Given the description of an element on the screen output the (x, y) to click on. 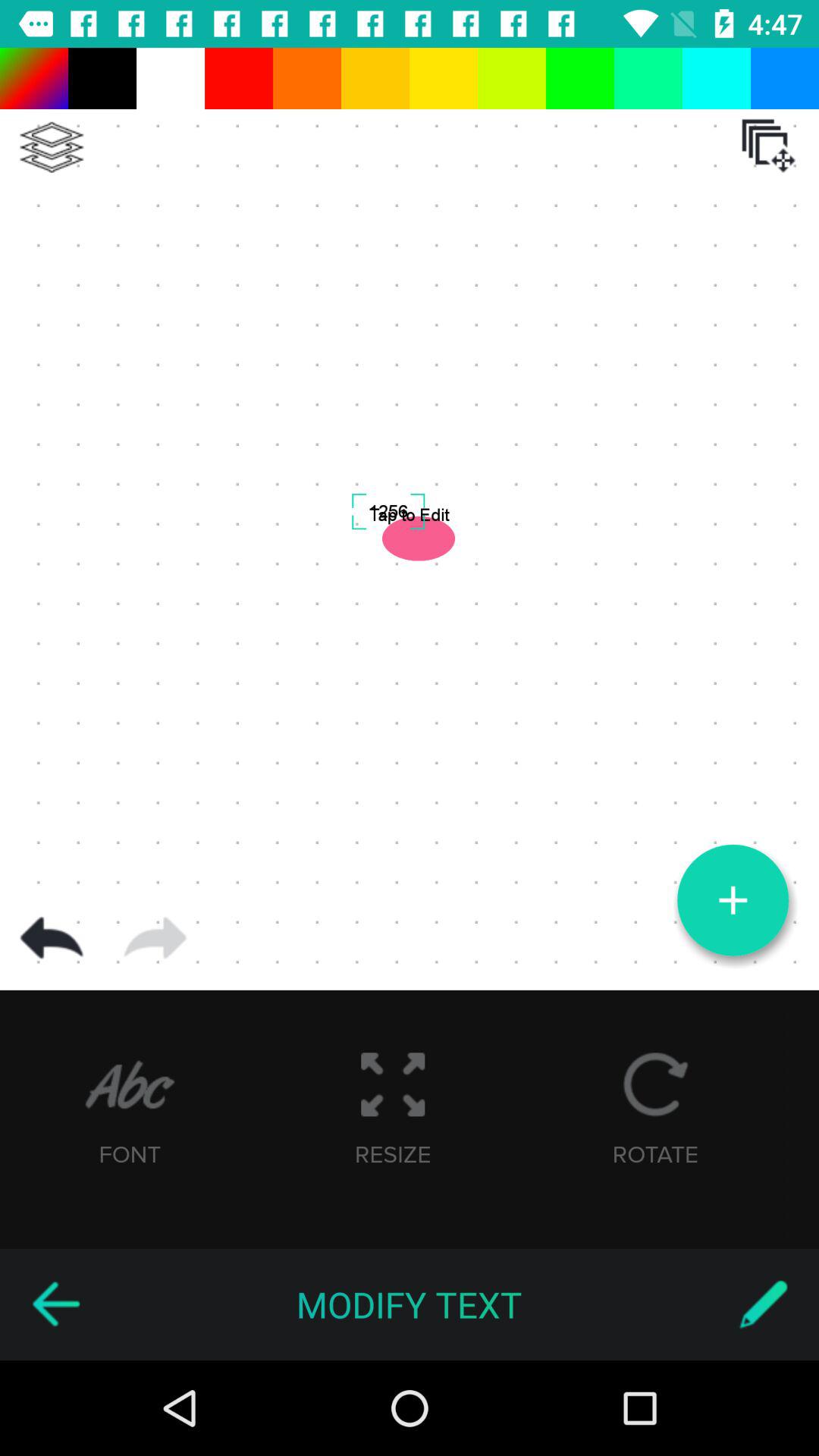
add content (733, 900)
